Given the description of an element on the screen output the (x, y) to click on. 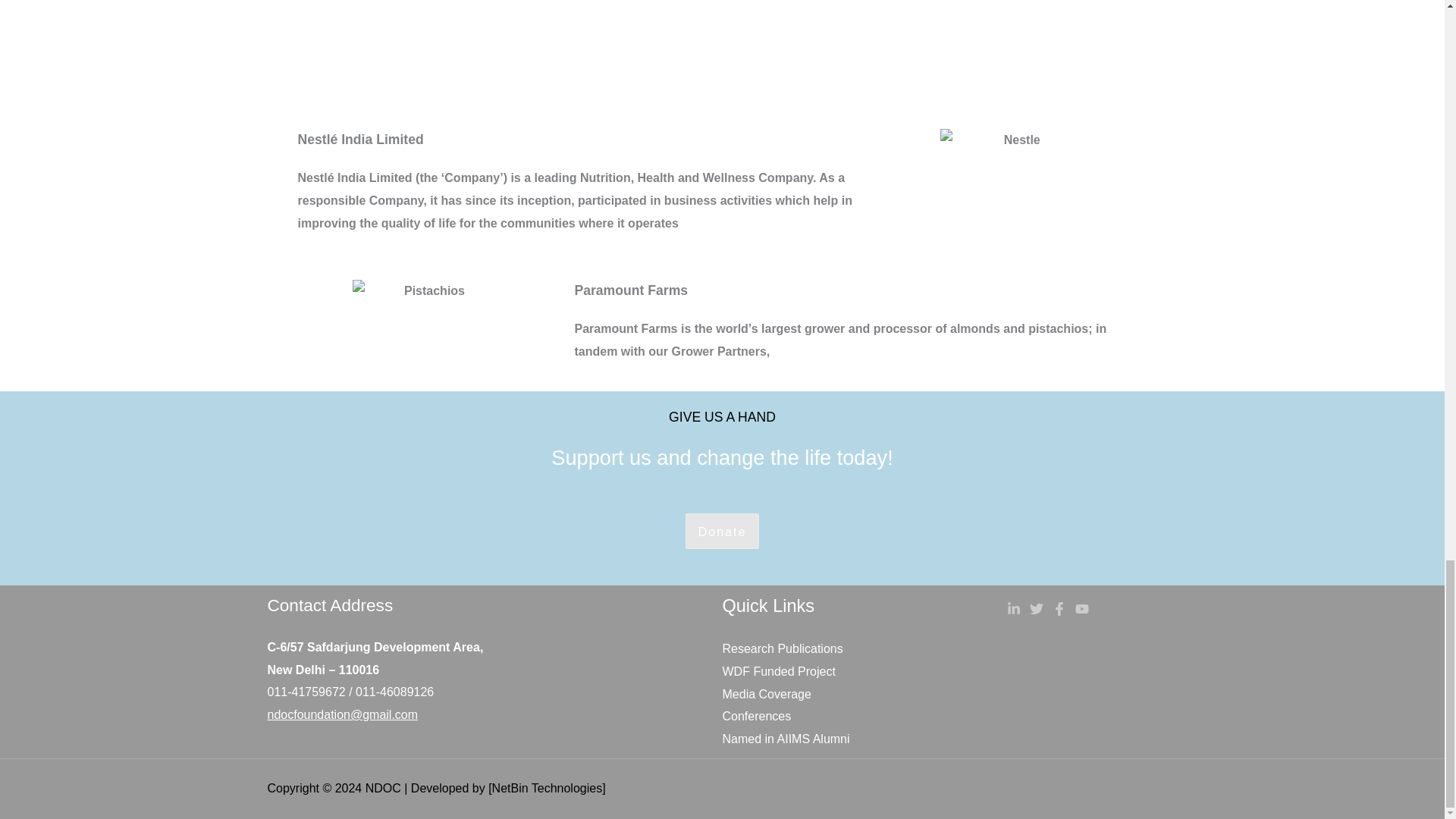
WDF Funded Project (778, 671)
Research Publications (782, 648)
Donate (722, 531)
Donate (722, 531)
